Given the description of an element on the screen output the (x, y) to click on. 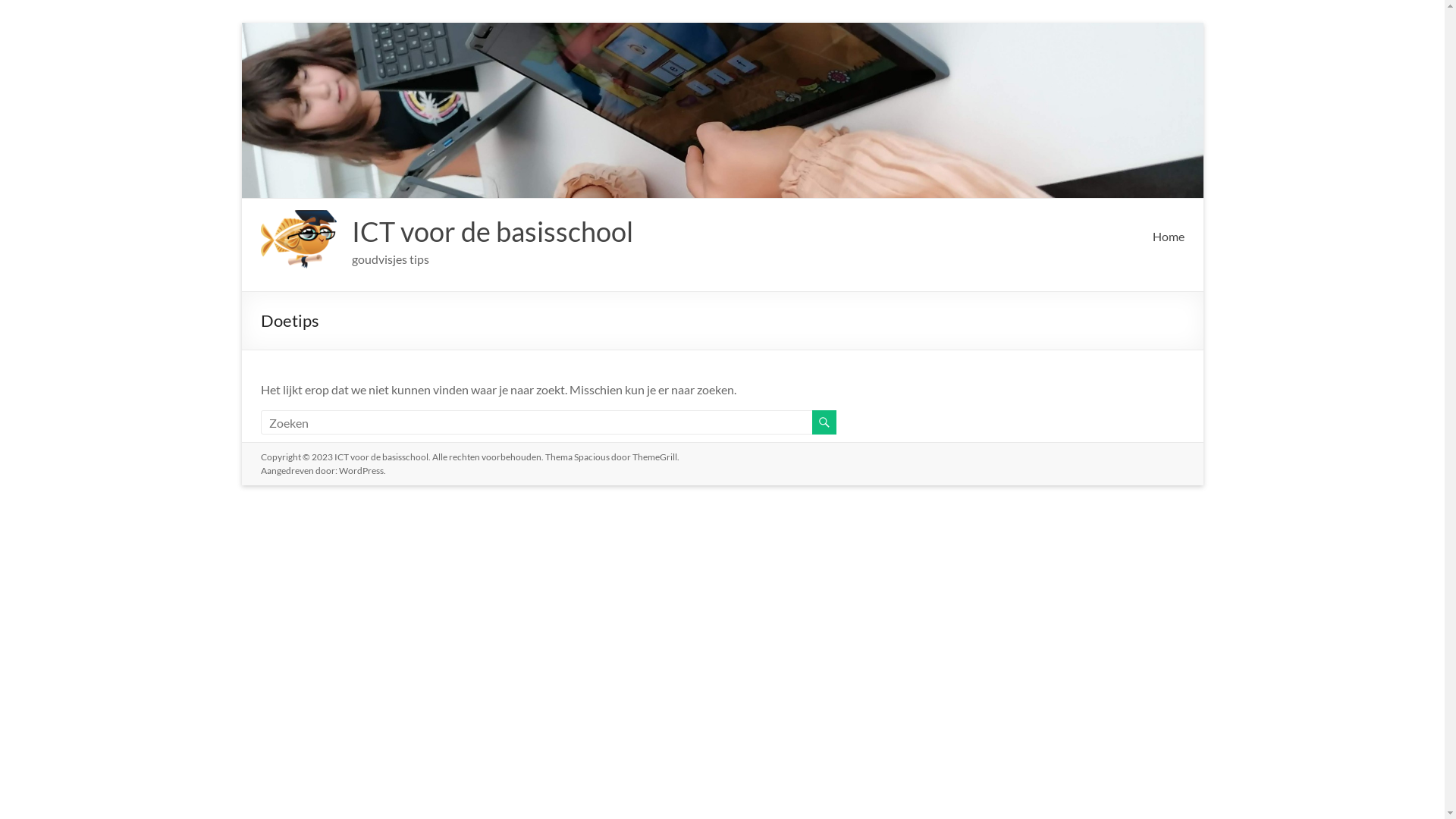
Home Element type: text (1168, 236)
WordPress Element type: text (360, 470)
ICT voor de basisschool Element type: text (380, 456)
Ga naar inhoud Element type: text (241, 21)
ICT voor de basisschool Element type: text (492, 230)
Spacious Element type: text (590, 456)
